Given the description of an element on the screen output the (x, y) to click on. 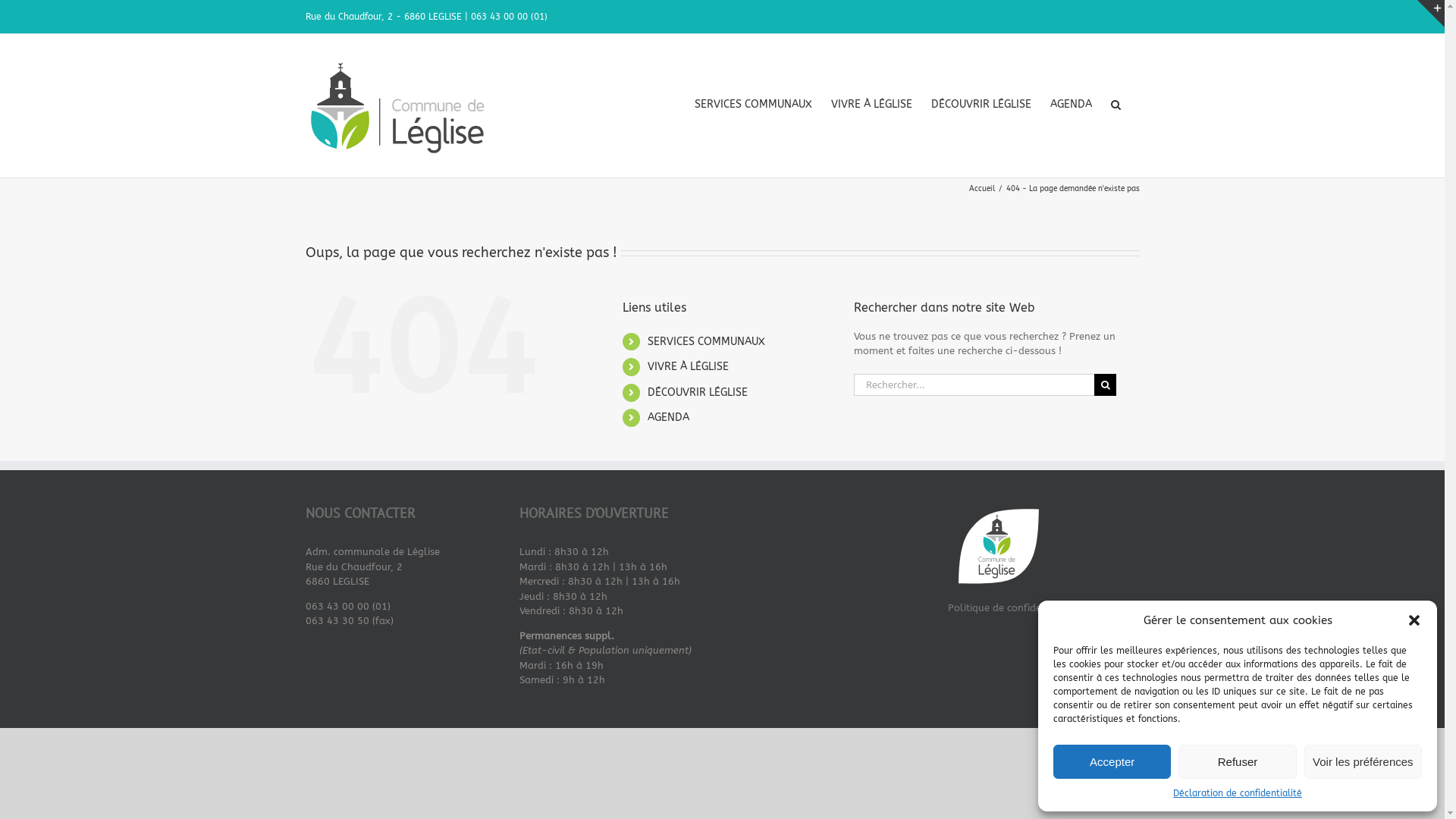
SERVICES COMMUNAUX Element type: text (753, 104)
Recherche Element type: hover (1115, 104)
AGENDA Element type: text (668, 417)
AGENDA Element type: text (1070, 104)
Bascule de la zone de la barre coulissante Element type: text (1430, 13)
SERVICES COMMUNAUX Element type: text (706, 341)
Refuser Element type: text (1236, 761)
Accepter Element type: text (1111, 761)
Accueil Element type: text (981, 188)
